Given the description of an element on the screen output the (x, y) to click on. 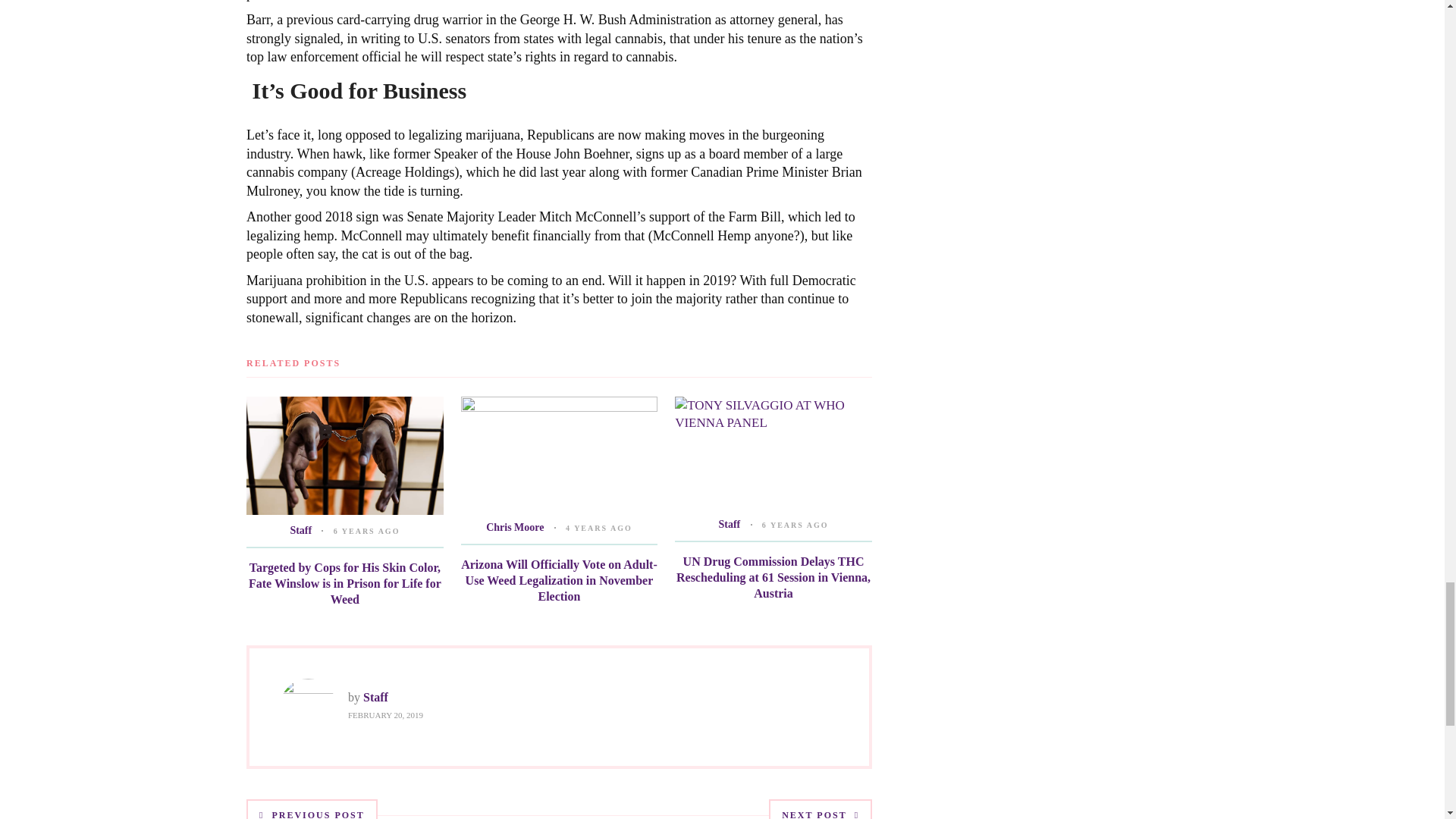
Posts by Staff (300, 530)
Posts by Chris Moore (514, 527)
Staff (375, 697)
Posts by Staff (375, 697)
Chris Moore (514, 527)
PREVIOUS POST (311, 809)
Staff (300, 530)
NEXT POST (820, 809)
